Given the description of an element on the screen output the (x, y) to click on. 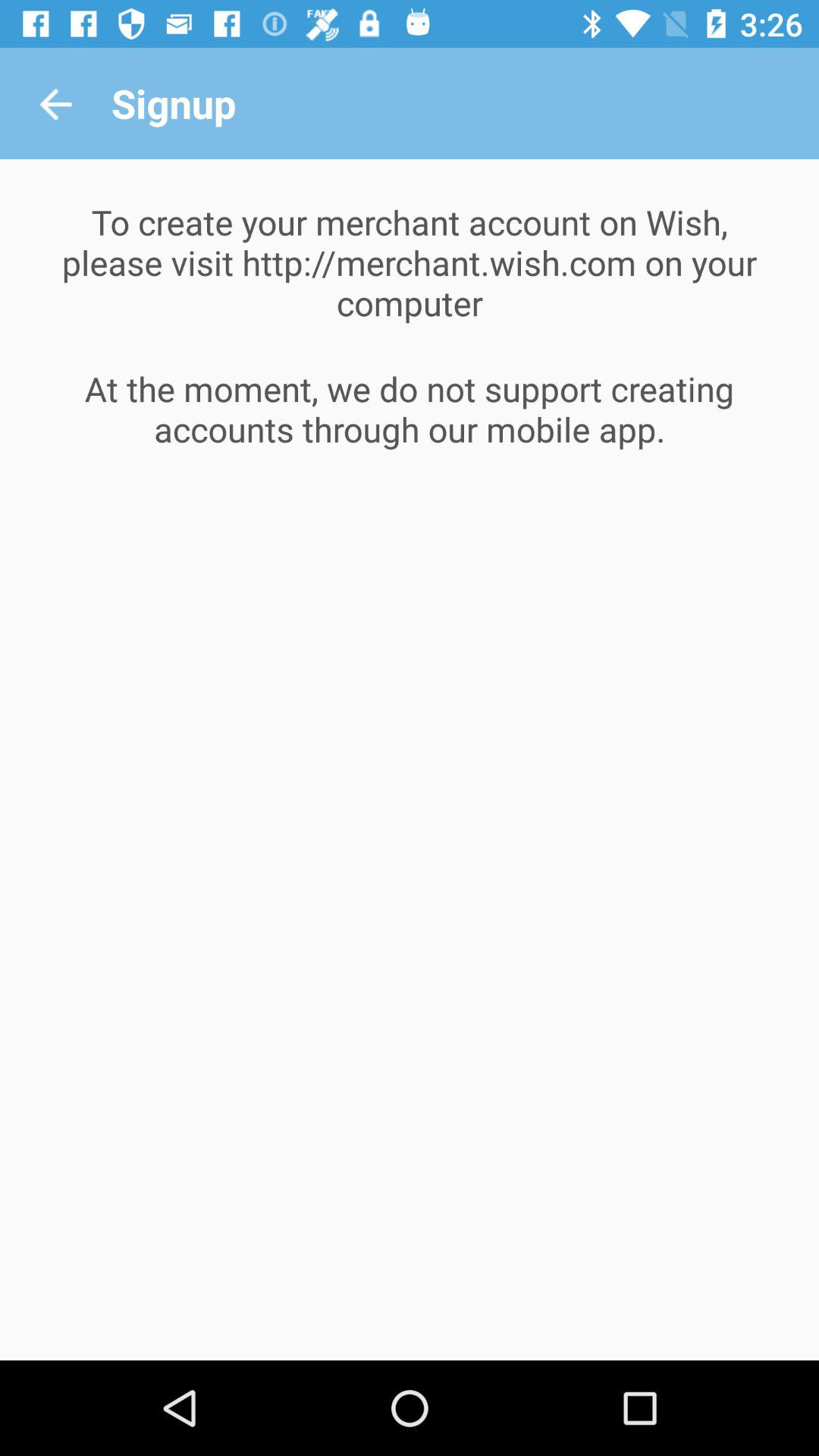
select icon above the to create your icon (55, 103)
